Given the description of an element on the screen output the (x, y) to click on. 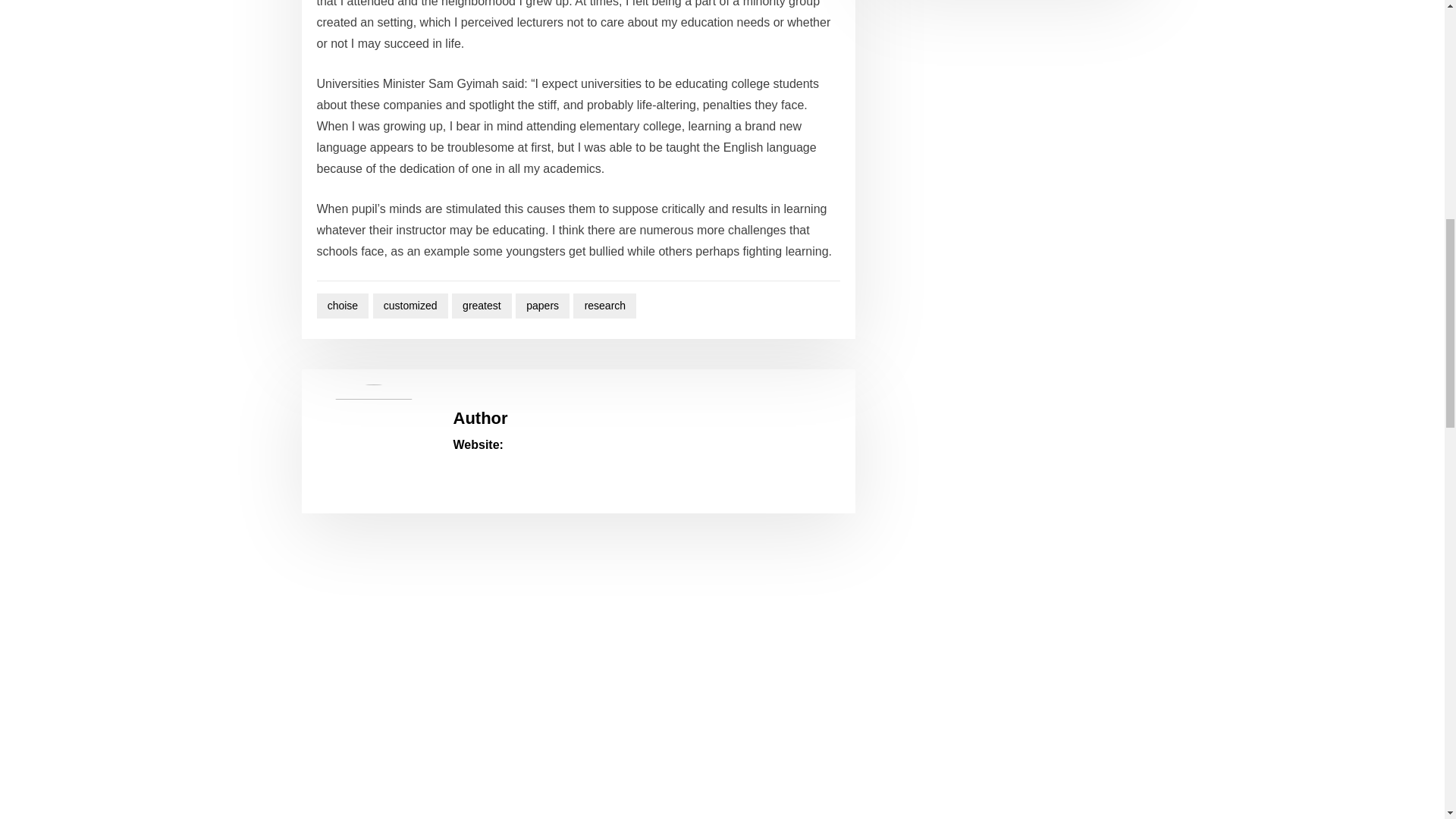
customized (410, 305)
research (604, 305)
choise (343, 305)
papers (542, 305)
greatest (481, 305)
